Given the description of an element on the screen output the (x, y) to click on. 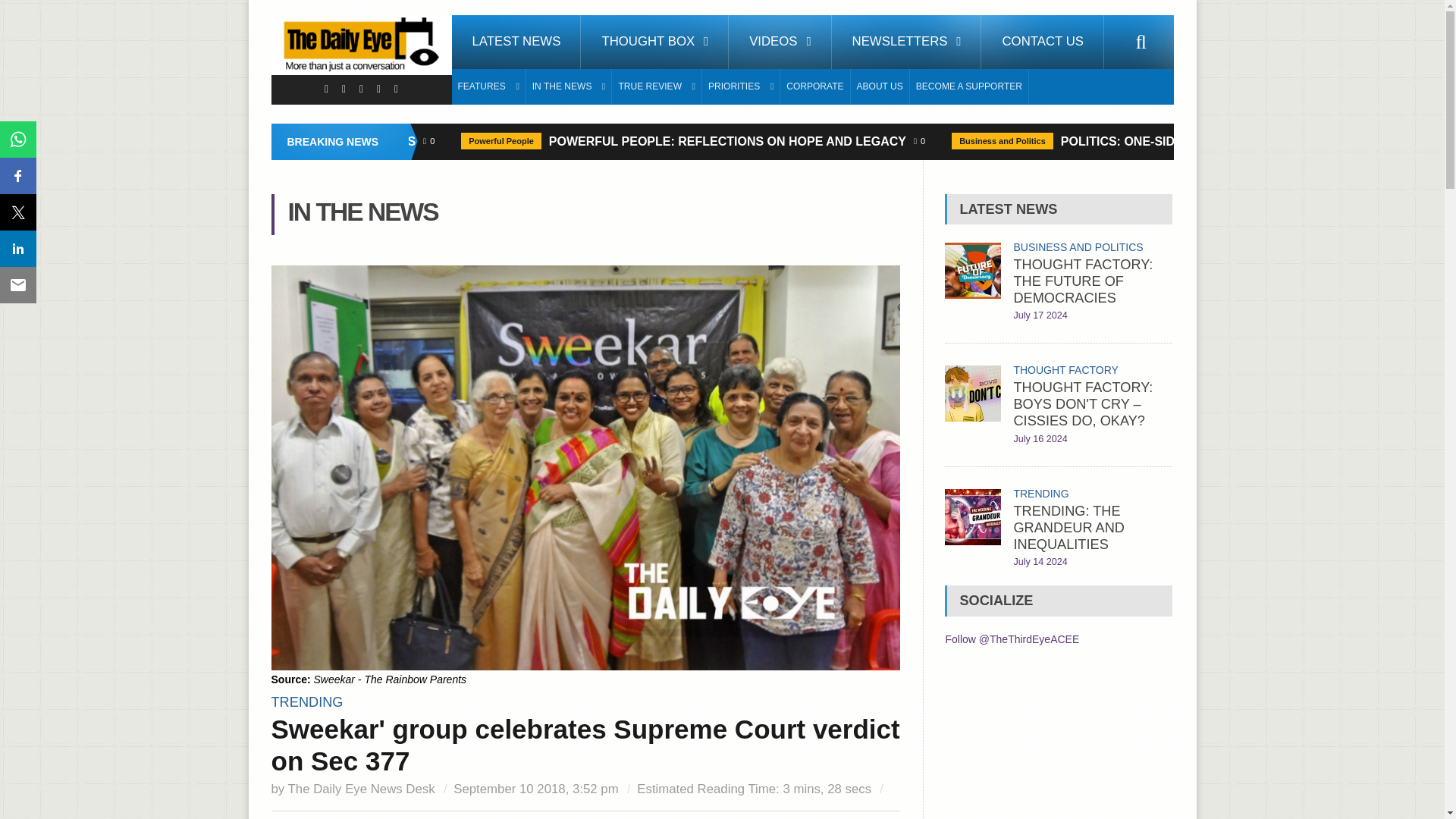
THOUGHT BOX (654, 41)
VIDEOS (780, 41)
NEWSLETTERS (906, 41)
Advertisement (1058, 744)
LATEST NEWS (515, 41)
search (1140, 42)
